Given the description of an element on the screen output the (x, y) to click on. 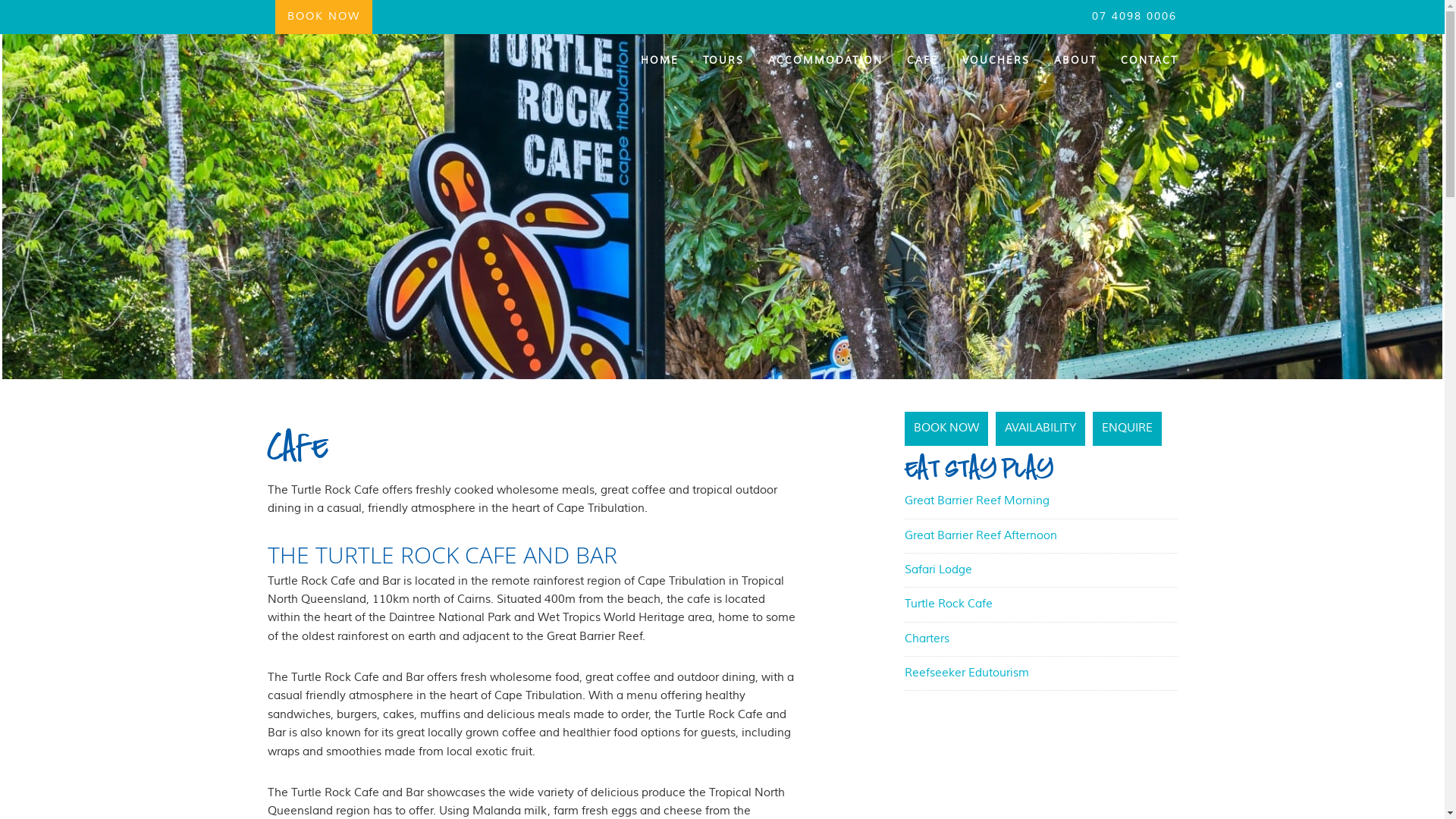
ACCOMMODATION Element type: text (824, 60)
TOURS Element type: text (722, 60)
Charters Element type: text (925, 638)
CONTACT Element type: text (1143, 60)
07 4098 0006 Element type: text (1134, 16)
ABOUT Element type: text (1075, 60)
Great Barrier Reef Morning Element type: text (975, 500)
Ocean Safari Website Element type: text (402, 74)
AVAILABILITY Element type: text (1039, 428)
Skip to primary navigation Element type: text (0, 0)
CAFE Element type: text (922, 60)
HOME Element type: text (658, 60)
BOOK NOW Element type: text (945, 428)
ENQUIRE Element type: text (1126, 428)
Reefseeker Edutourism Element type: text (965, 672)
VOUCHERS Element type: text (994, 60)
Turtle Rock Cafe Element type: text (947, 603)
Great Barrier Reef Afternoon Element type: text (979, 535)
Safari Lodge Element type: text (937, 569)
